Given the description of an element on the screen output the (x, y) to click on. 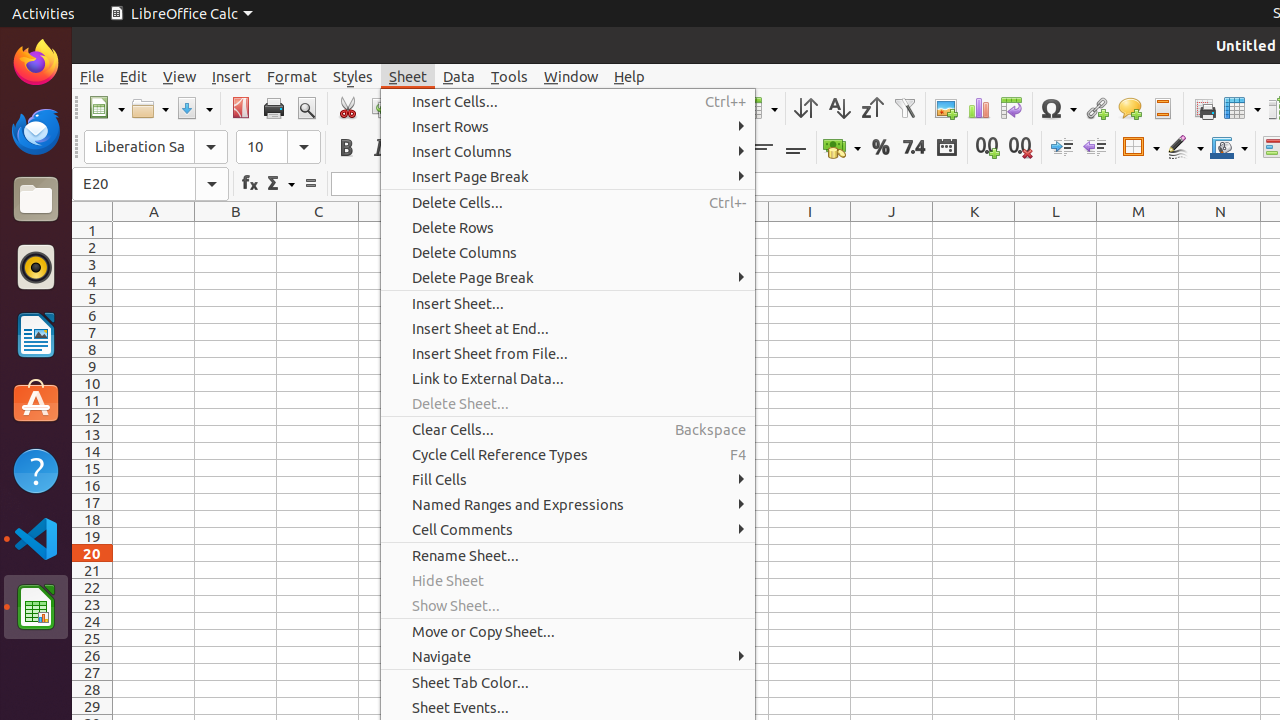
Insert Rows Element type: menu (568, 126)
Function Wizard Element type: push-button (249, 183)
Data Element type: menu (459, 76)
Clear Cells... Element type: menu-item (568, 429)
LibreOffice Calc Element type: push-button (36, 607)
